Given the description of an element on the screen output the (x, y) to click on. 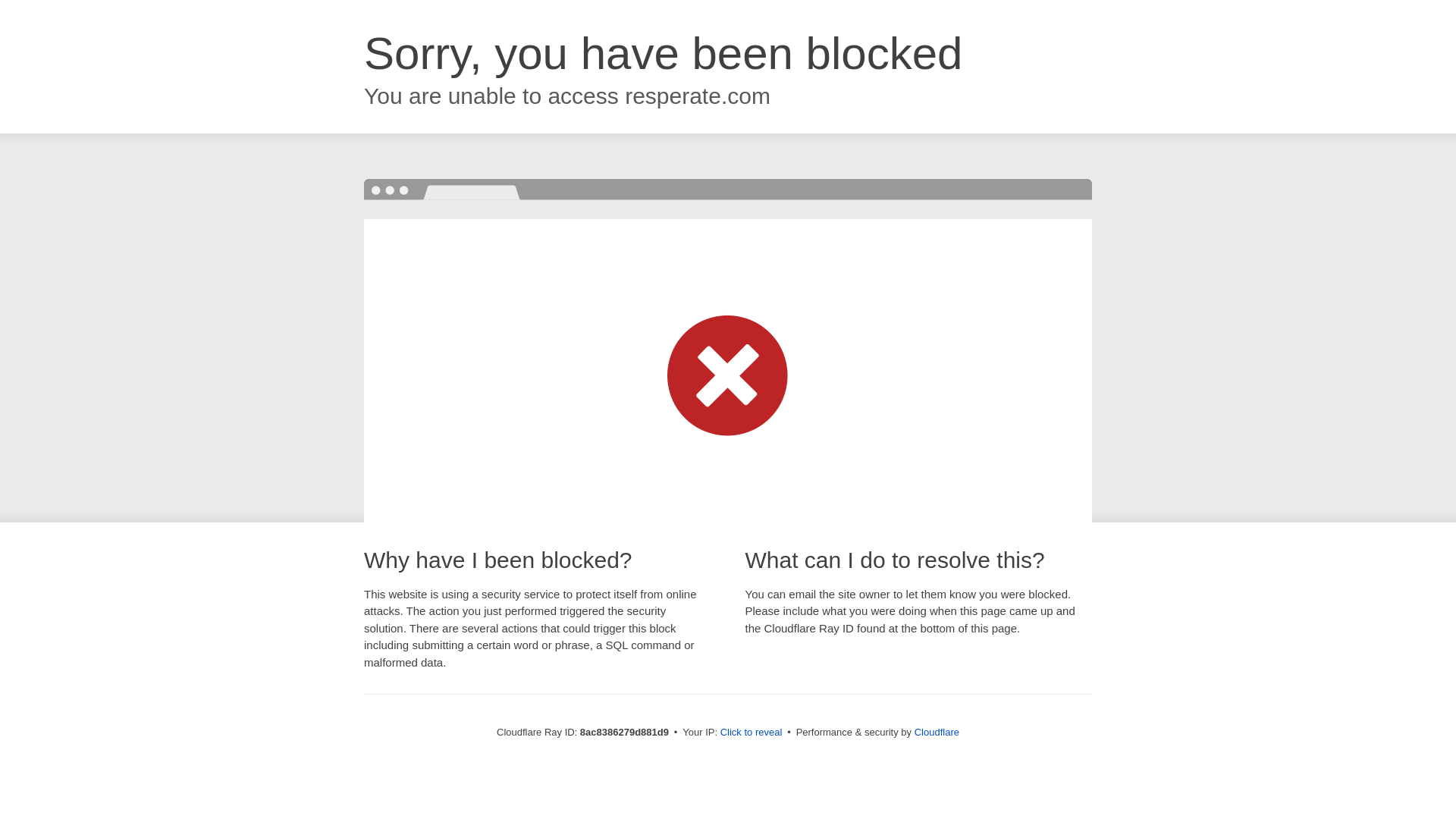
Click to reveal (751, 732)
Cloudflare (936, 731)
